Given the description of an element on the screen output the (x, y) to click on. 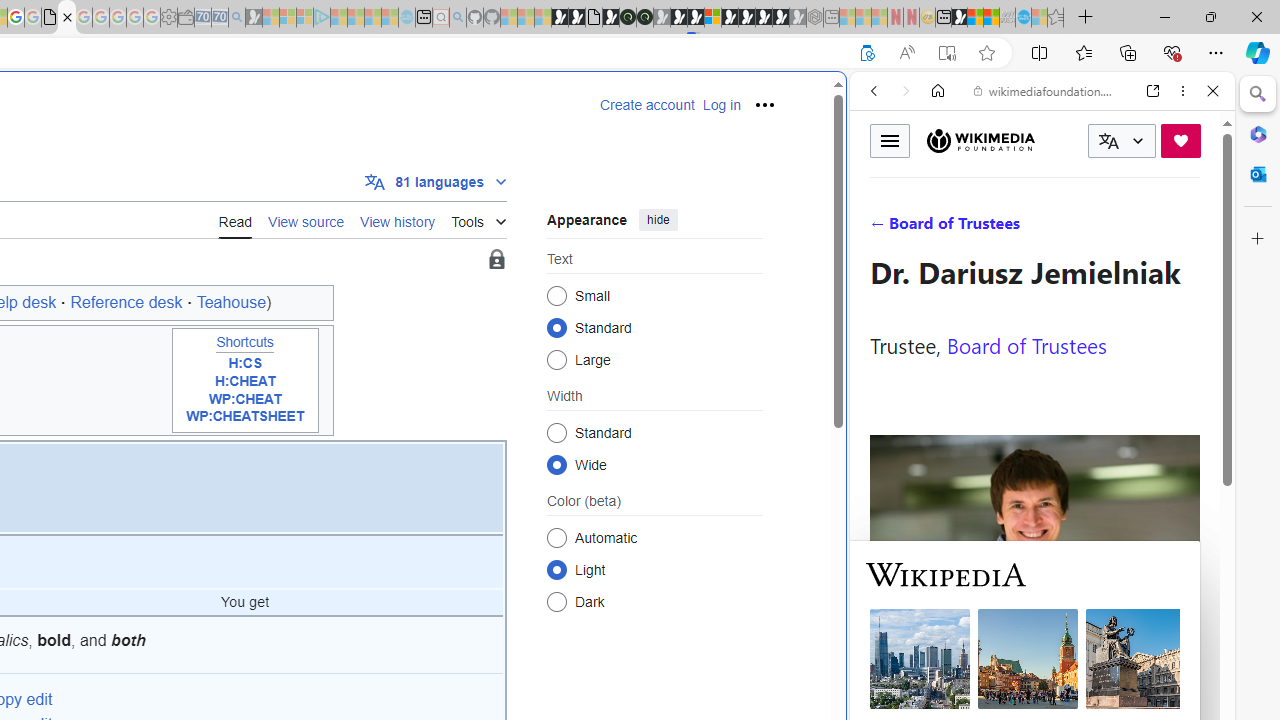
Page semi-protected (496, 259)
View history (397, 219)
H:CS (244, 363)
H:CHEAT (245, 381)
Help:Cheatsheet - Wikipedia (66, 17)
Create account (647, 105)
